Given the description of an element on the screen output the (x, y) to click on. 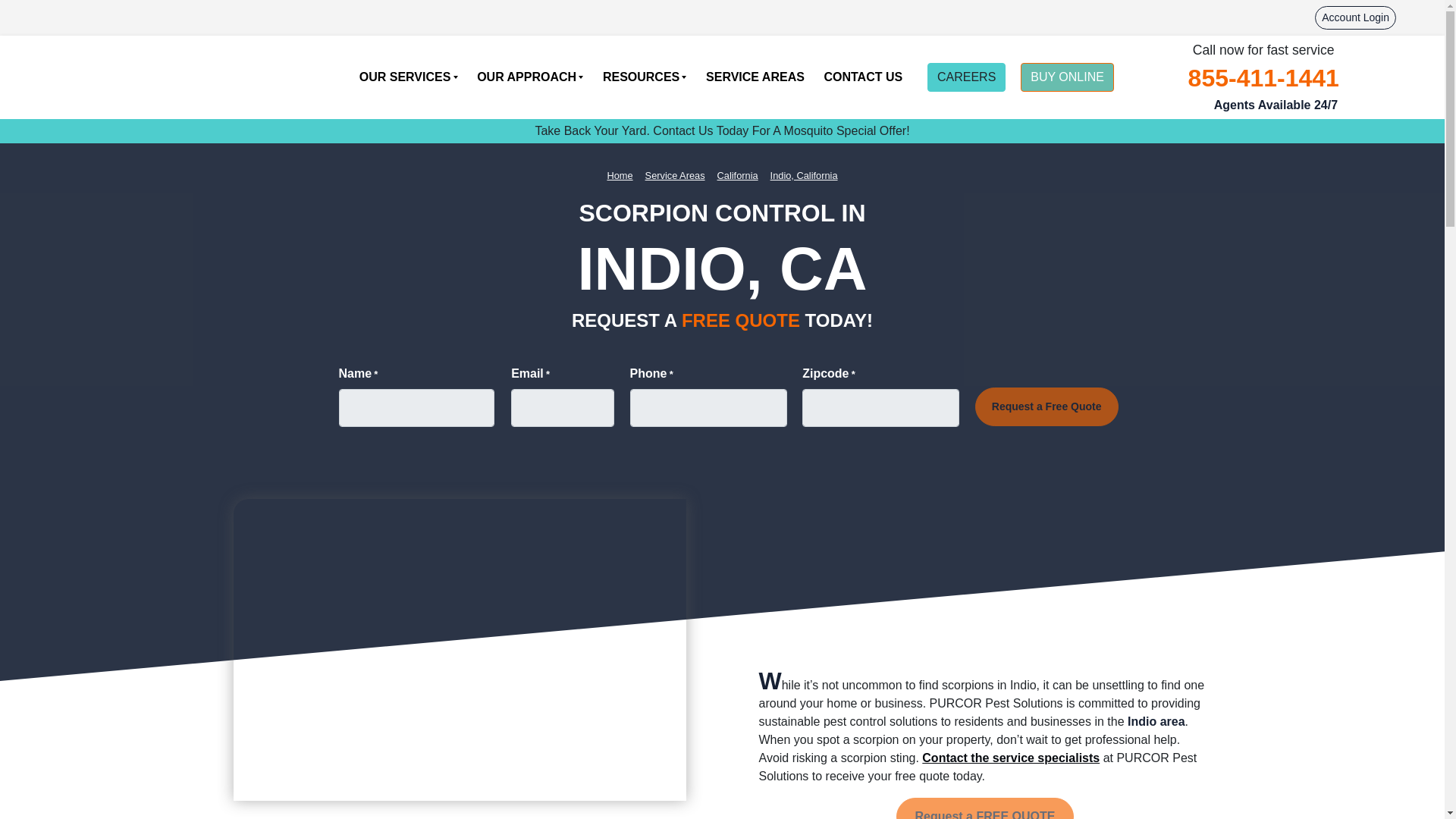
BUY ONLINE (1066, 77)
Our Approach (529, 77)
Indio area (1155, 721)
Indio, California (804, 175)
Contact Us (862, 77)
California (737, 175)
Service Areas (674, 175)
Our Services (408, 77)
Request a FREE QUOTE (985, 808)
855-411-1441 (1263, 77)
CAREERS (966, 77)
Contact the service specialists (1010, 757)
RESOURCES (643, 77)
OUR APPROACH (529, 77)
Resources (643, 77)
